Given the description of an element on the screen output the (x, y) to click on. 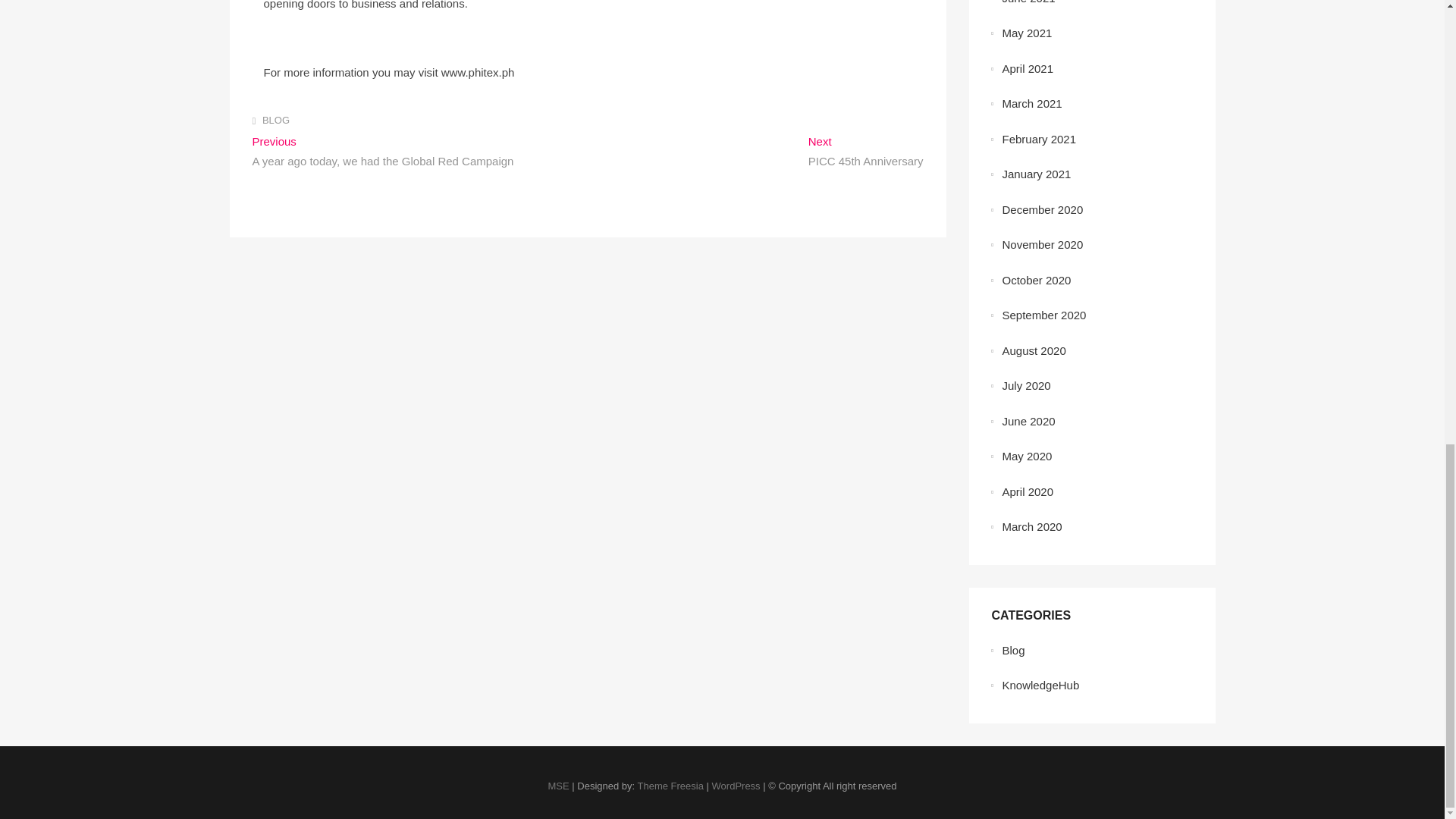
BLOG (275, 120)
MSE (558, 785)
WordPress (735, 785)
Theme Freesia (670, 785)
